Given the description of an element on the screen output the (x, y) to click on. 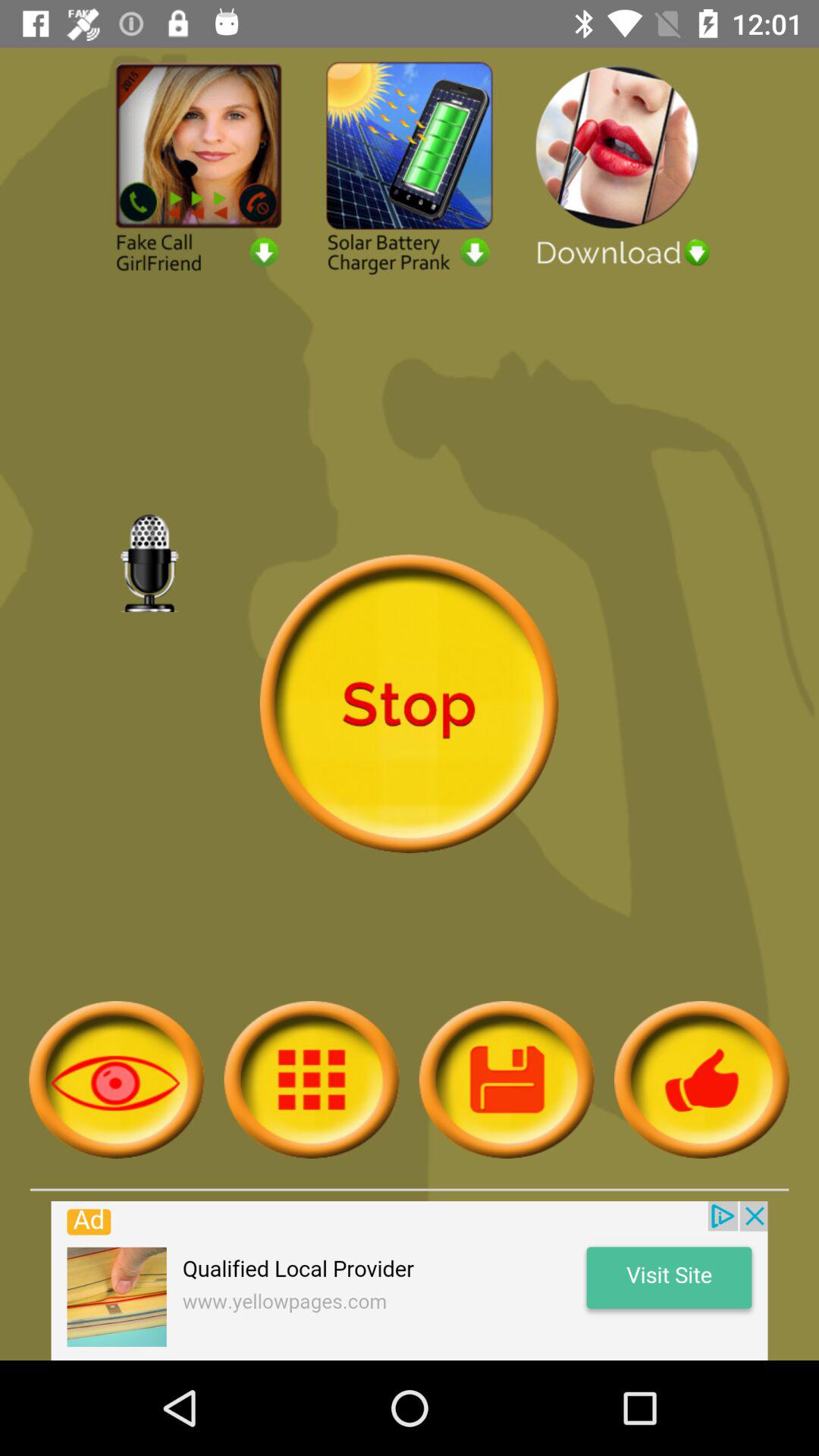
click to save (506, 1079)
